Given the description of an element on the screen output the (x, y) to click on. 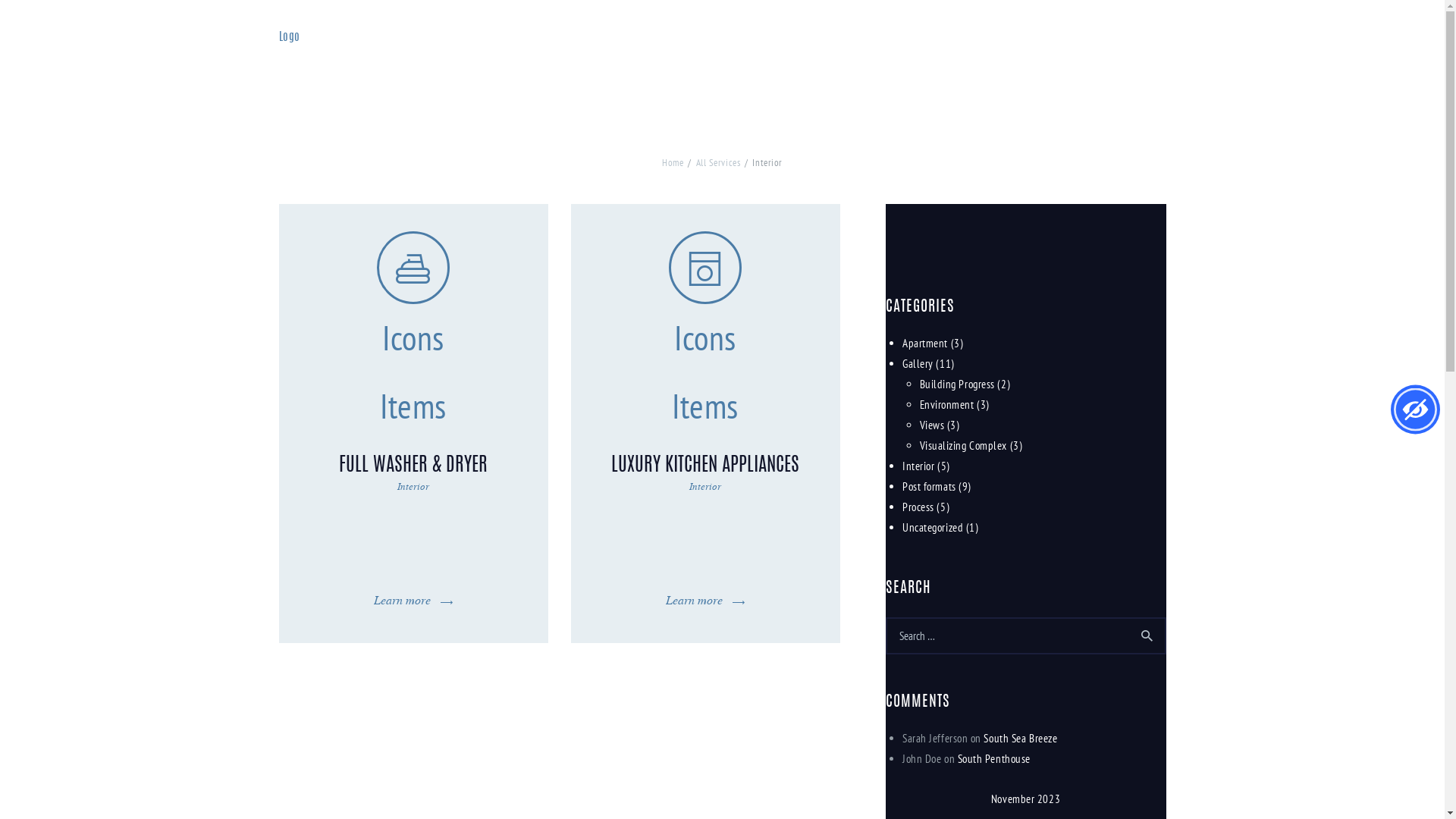
Learn more Element type: text (704, 599)
Apartment Element type: text (924, 342)
Home Element type: text (672, 162)
Icons Items Element type: text (412, 267)
Process Element type: text (918, 506)
ABOUT Element type: text (842, 54)
Gallery Element type: text (917, 363)
Interior Element type: text (413, 485)
Logo Element type: text (289, 37)
FLOORPLANS Element type: text (961, 54)
Building Progress Element type: text (956, 383)
AMENITIES Element type: text (1036, 54)
Icons Items Element type: text (704, 267)
HOME Element type: text (794, 54)
CONTACT Element type: text (1102, 54)
South Penthouse Element type: text (993, 758)
Search Element type: text (1147, 635)
LUXURY KITCHEN APPLIANCES Element type: text (705, 466)
PHOTOS Element type: text (894, 54)
Uncategorized Element type: text (932, 527)
Visualizing Complex Element type: text (962, 445)
All Services Element type: text (718, 162)
Learn more Element type: text (412, 599)
Interior Element type: text (918, 465)
Environment Element type: text (946, 404)
South Sea Breeze Element type: text (1020, 738)
FULL WASHER & DRYER Element type: text (412, 466)
Interior Element type: text (705, 485)
Post formats Element type: text (929, 486)
Views Element type: text (931, 424)
